Given the description of an element on the screen output the (x, y) to click on. 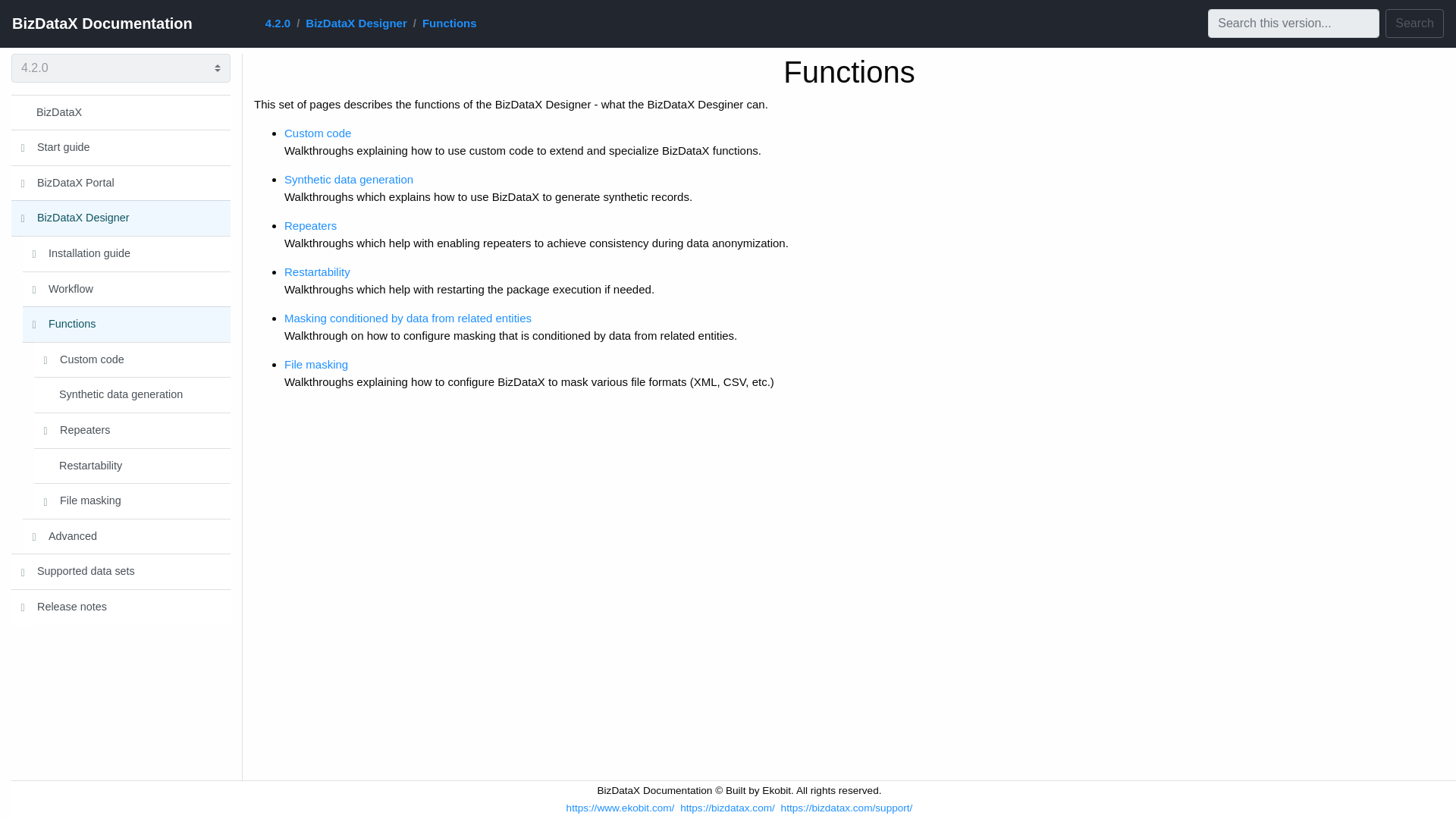
4.2.0 (276, 22)
Start guide (131, 147)
BizDataX Documentation (101, 23)
Functions (449, 22)
BizDataX (120, 111)
BizDataX Designer (355, 22)
Search (1415, 23)
BizDataX Portal (131, 182)
